Given the description of an element on the screen output the (x, y) to click on. 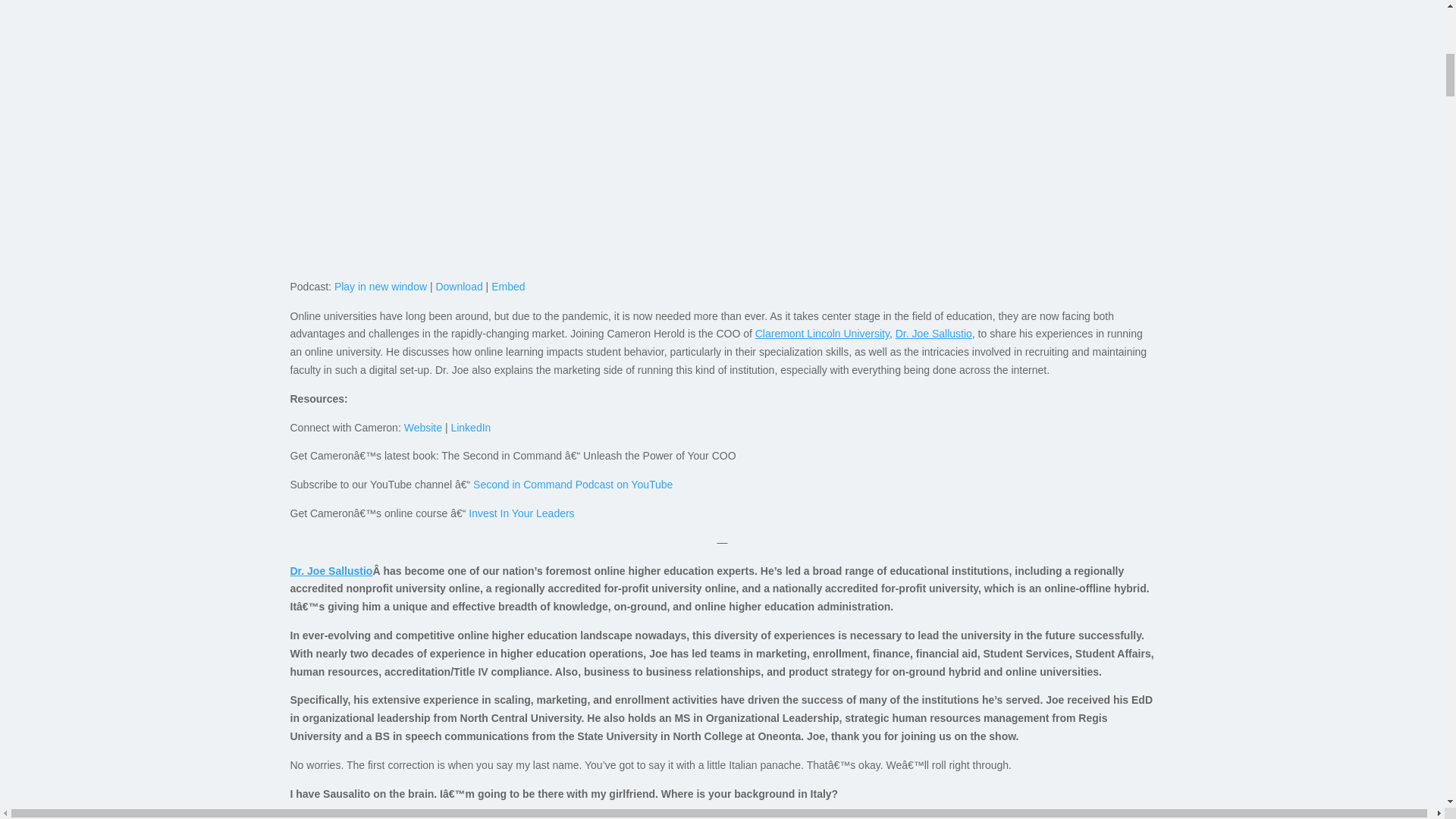
Embed (508, 286)
Blubrry Podcast Player (721, 209)
Download (458, 286)
Play in new window (380, 286)
